Given the description of an element on the screen output the (x, y) to click on. 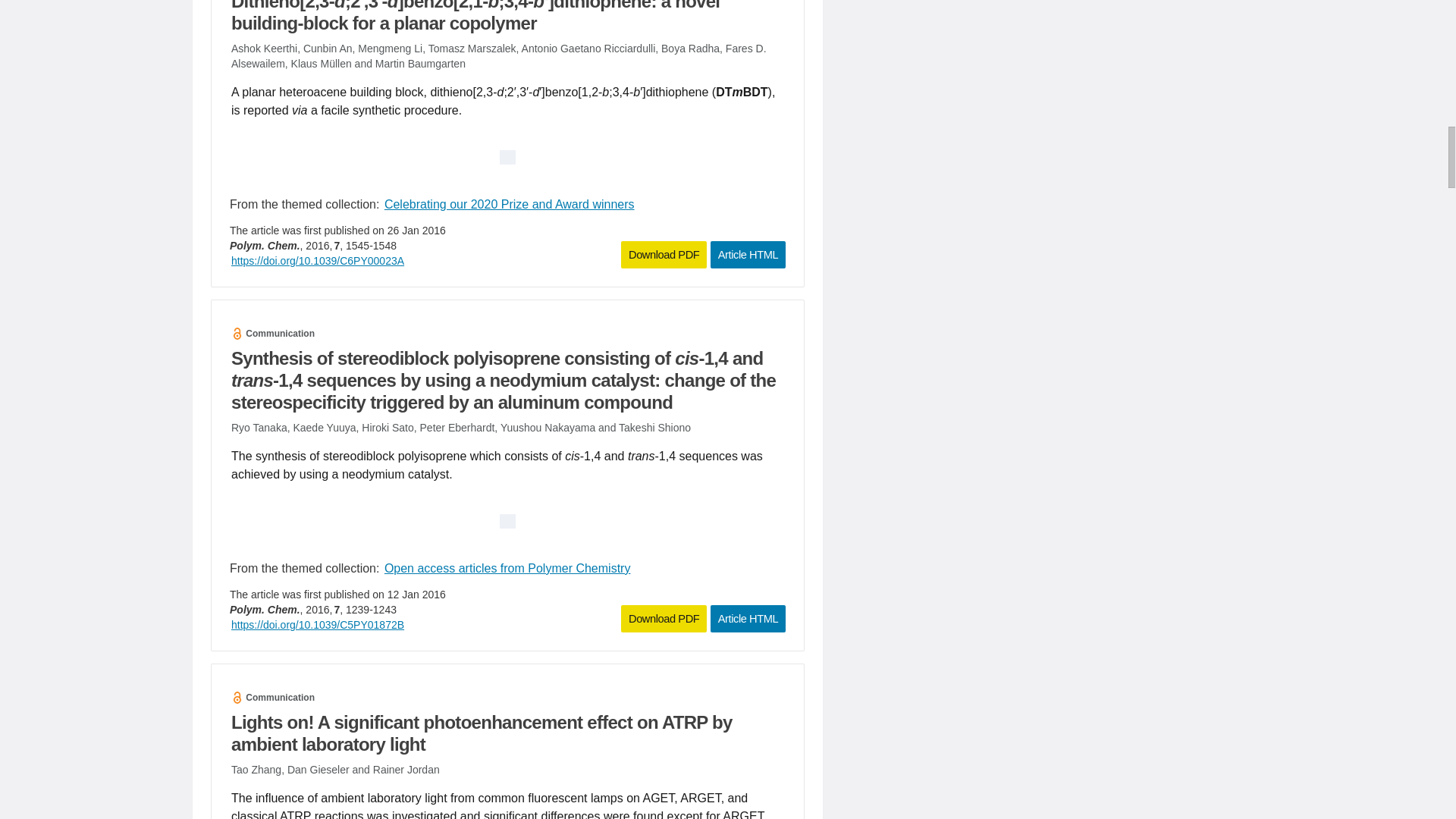
Article HTML (748, 254)
Download PDF (663, 618)
Download PDF (663, 254)
Open access articles from Polymer Chemistry (506, 568)
Celebrating our 2020 Prize and Award winners (509, 204)
